Given the description of an element on the screen output the (x, y) to click on. 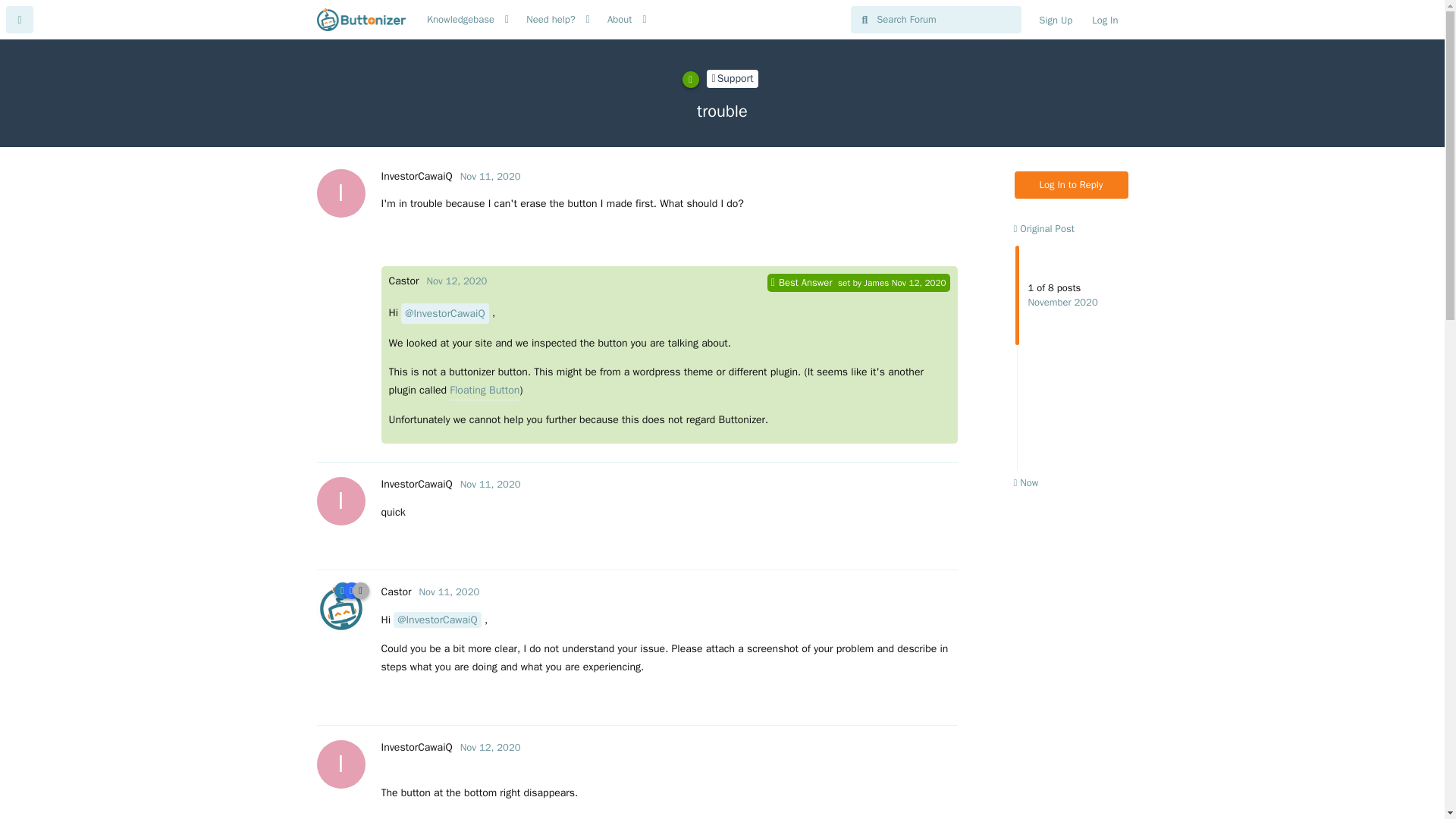
Log In to Reply (1071, 185)
Wednesday, November 11, 2020 11:44 PM (449, 591)
Nov 12, 2020 (456, 281)
Log In (1103, 19)
James (875, 283)
Thursday, November 12, 2020 12:16 AM (490, 747)
Need help? (550, 19)
Sign Up (1055, 19)
Knowledgebase (459, 19)
Now (1025, 481)
